Given the description of an element on the screen output the (x, y) to click on. 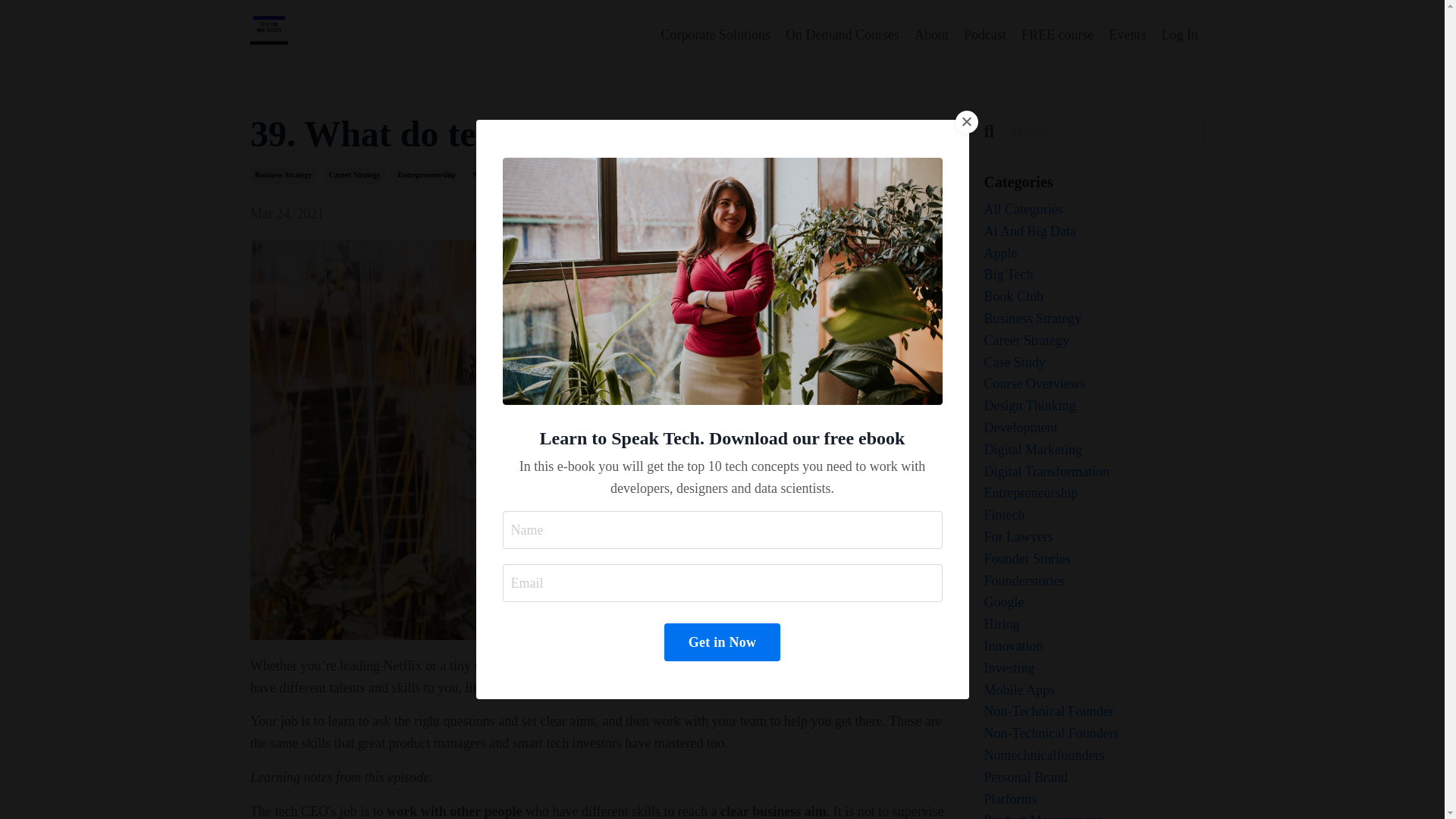
On Demand Courses (842, 34)
Non-Technical Founder (510, 175)
Book Club (1095, 296)
Case Study (1095, 362)
Design Thinking (1095, 405)
Course Overviews (1095, 383)
Ai And Big Data (1095, 231)
For Lawyers (1095, 536)
Career Strategy (1095, 341)
Career Strategy (354, 175)
FREE course (1057, 34)
Google (1095, 602)
Apple (1095, 253)
Digital Transformation (1095, 472)
Business Strategy (1095, 318)
